Given the description of an element on the screen output the (x, y) to click on. 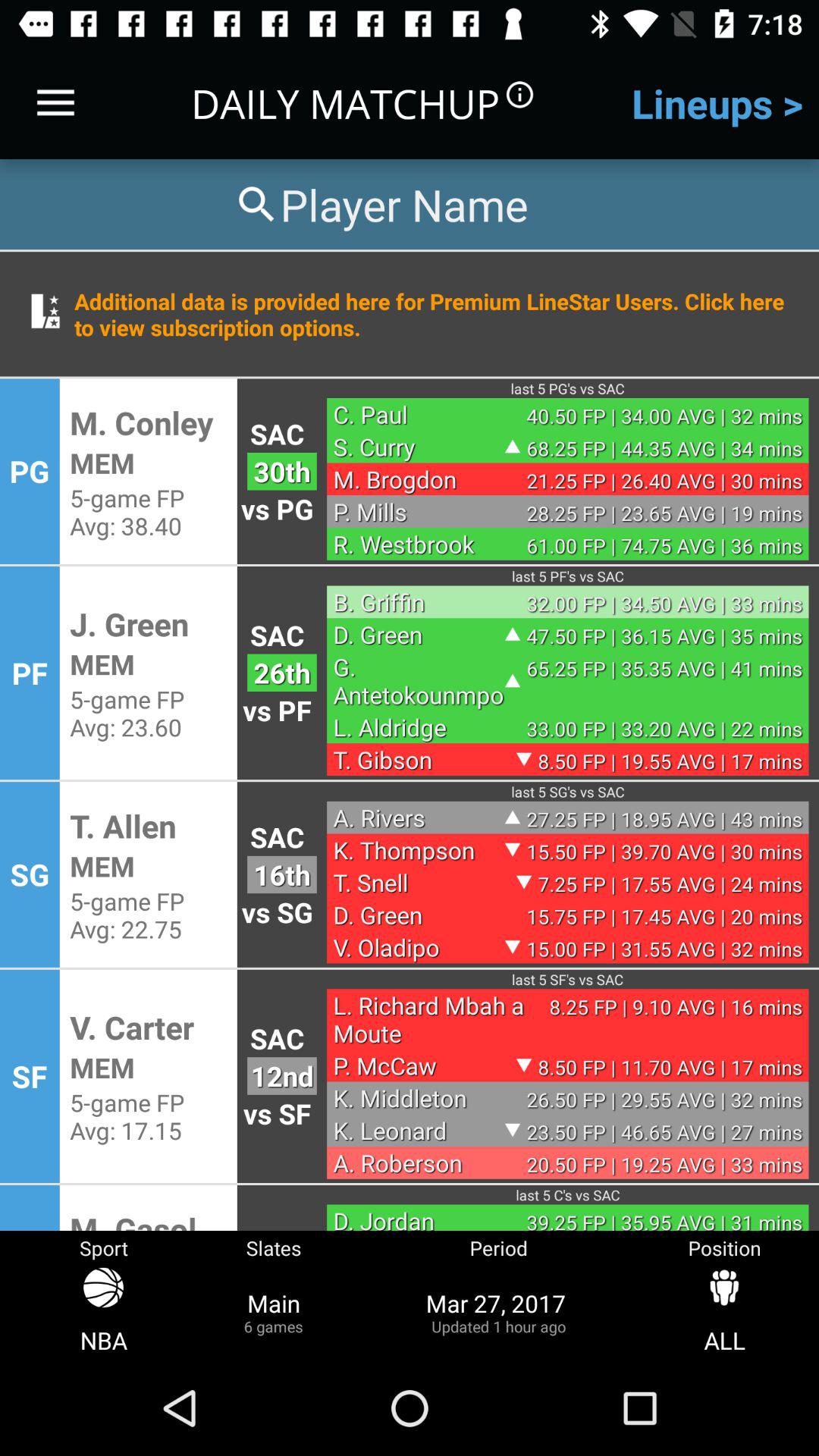
search for a player by name (380, 204)
